Given the description of an element on the screen output the (x, y) to click on. 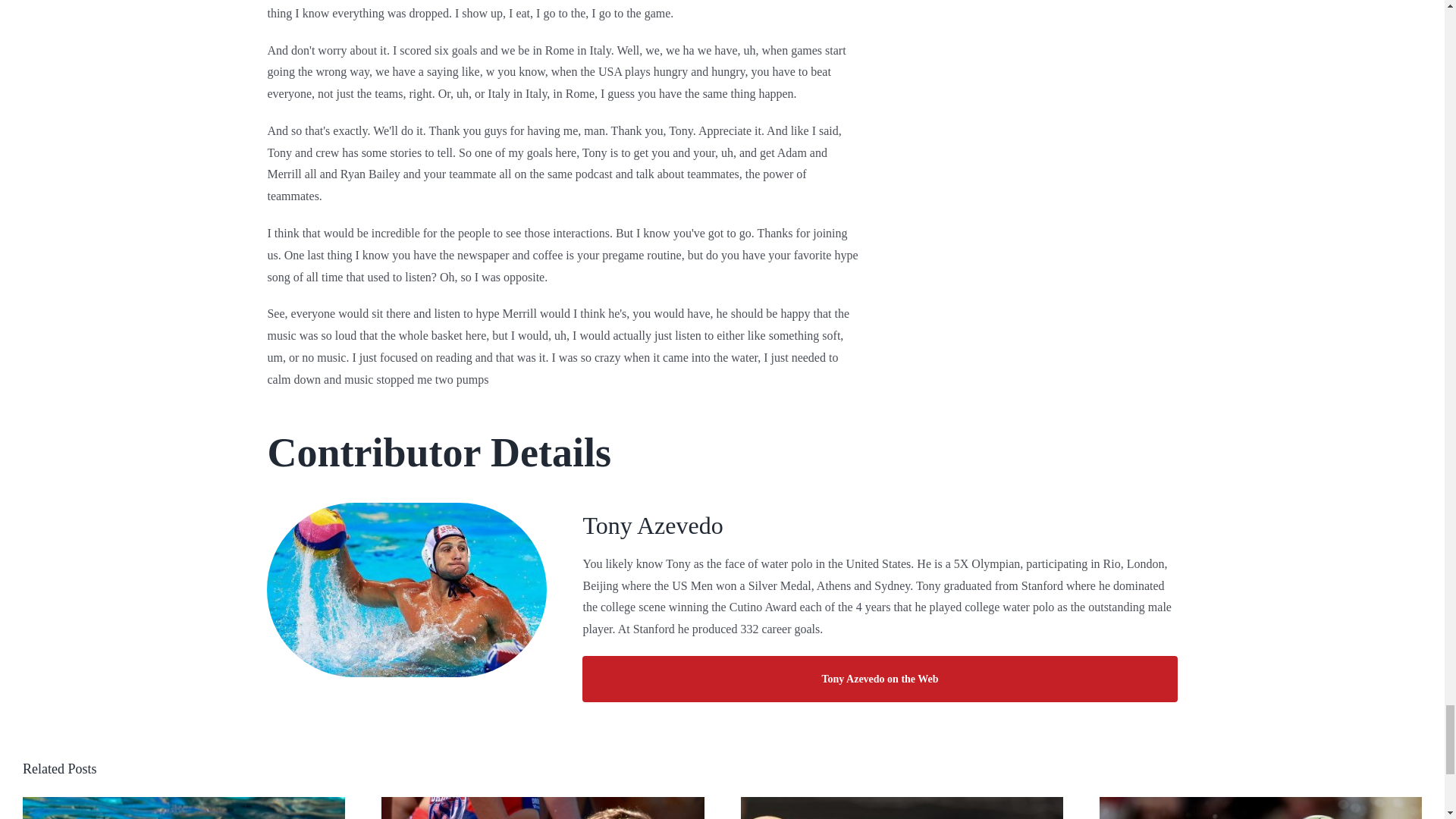
Tony Azevedo on the Web (879, 678)
